Given the description of an element on the screen output the (x, y) to click on. 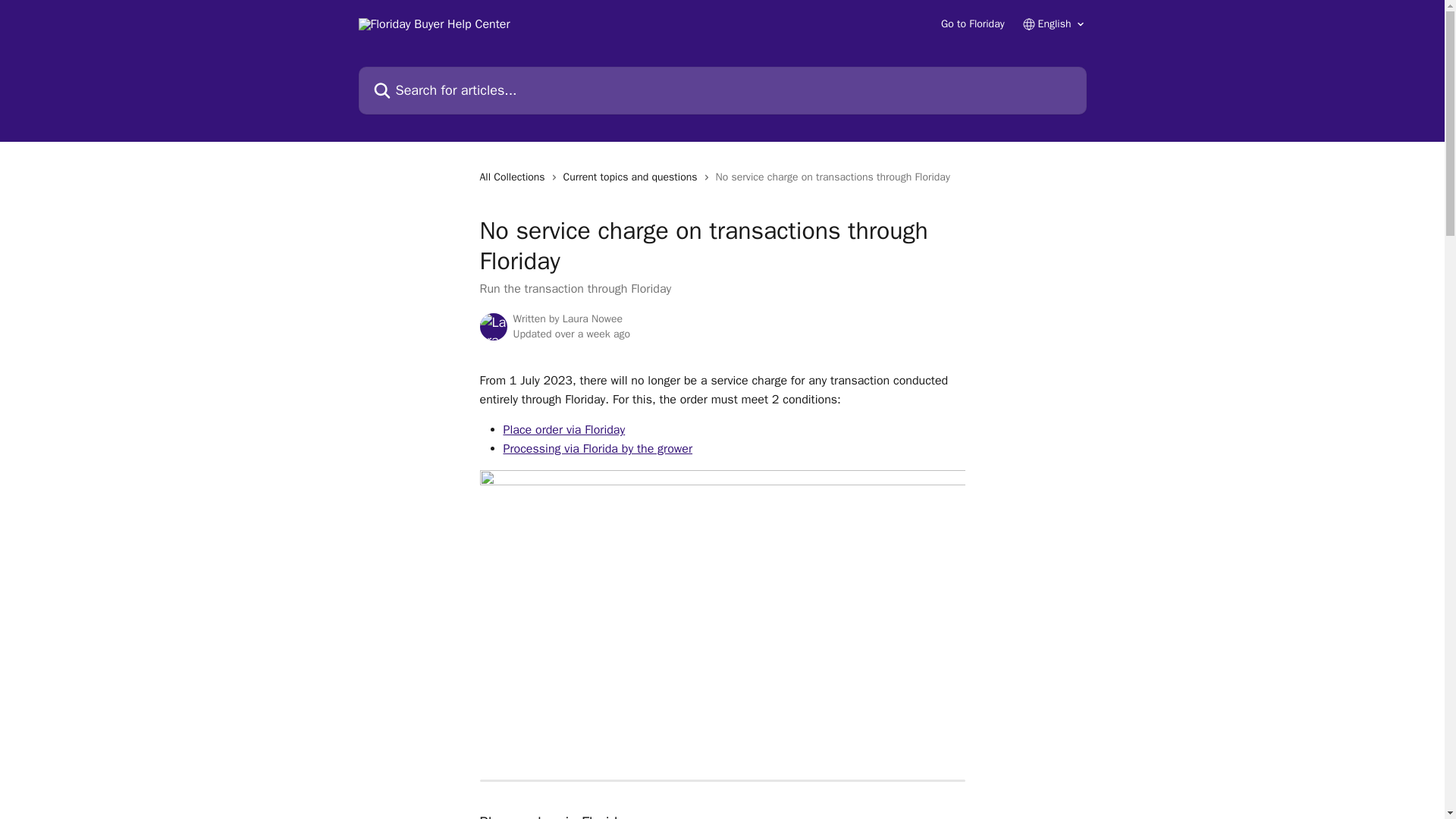
Current topics and questions (633, 176)
Place order via Floriday (564, 429)
Processing via Florida by the grower (598, 448)
Go to Floriday (972, 23)
All Collections (514, 176)
